Given the description of an element on the screen output the (x, y) to click on. 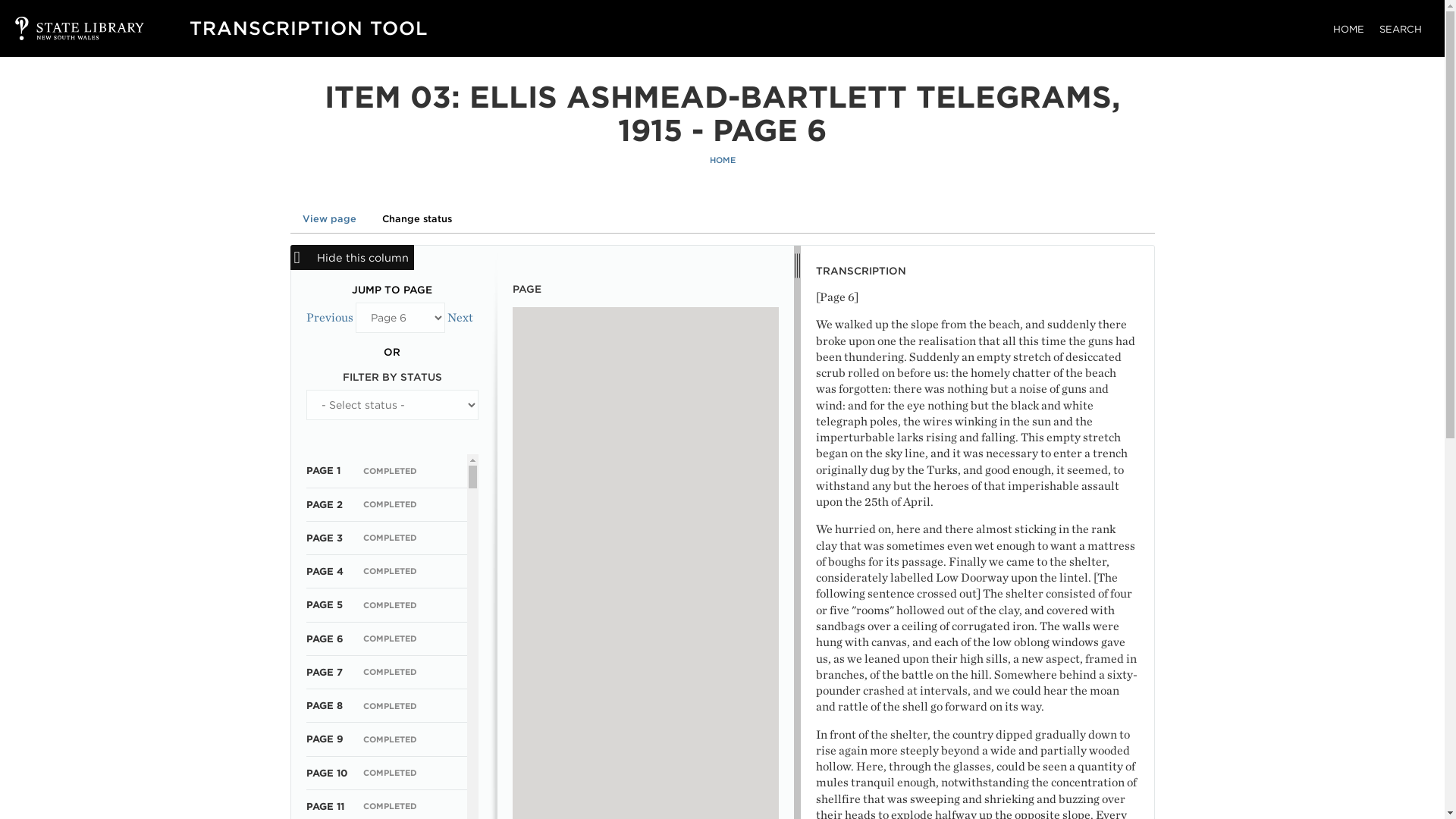
HOME (1348, 29)
PAGE 11 (324, 806)
PAGE 2 (323, 504)
Previous (329, 317)
PAGE 5 (323, 604)
View page (328, 218)
PAGE 8 (323, 705)
PAGE 9 (324, 738)
TRANSCRIPTION TOOL (308, 27)
Hide this column (351, 257)
Next (459, 317)
Home (308, 27)
PAGE 10 (326, 772)
SEARCH (1400, 29)
